Given the description of an element on the screen output the (x, y) to click on. 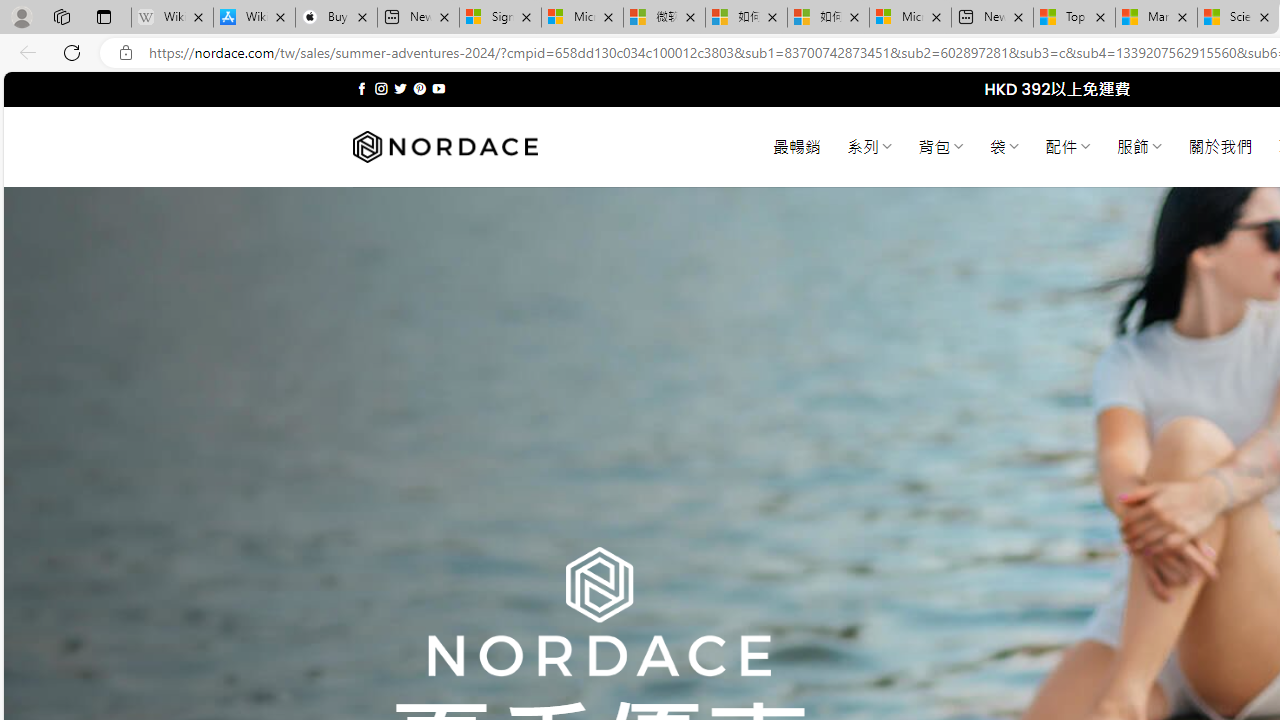
Wikipedia - Sleeping (171, 17)
Marine life - MSN (1156, 17)
Microsoft Services Agreement (582, 17)
